Given the description of an element on the screen output the (x, y) to click on. 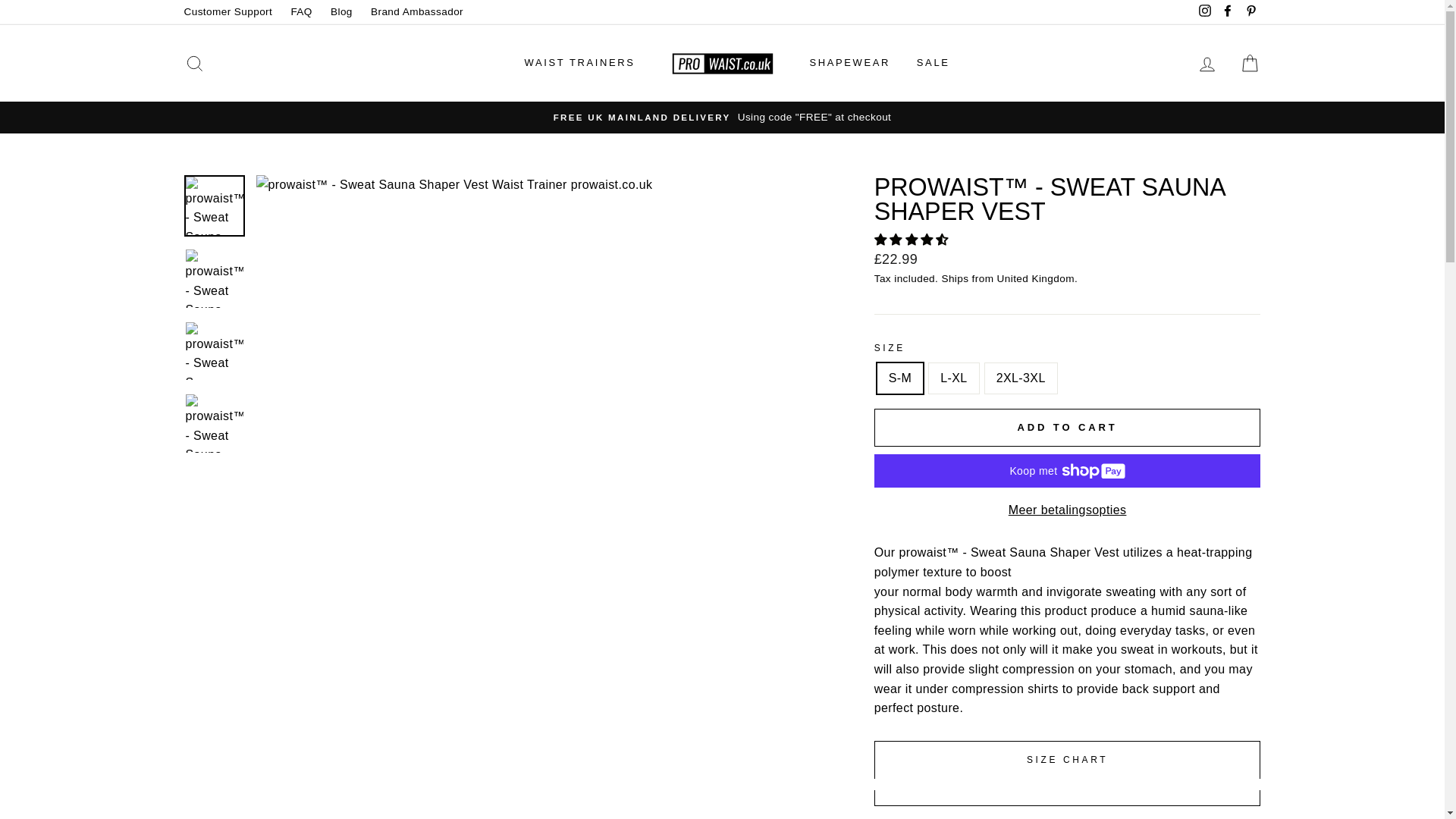
FAQ (300, 12)
Customer Support (227, 12)
